Given the description of an element on the screen output the (x, y) to click on. 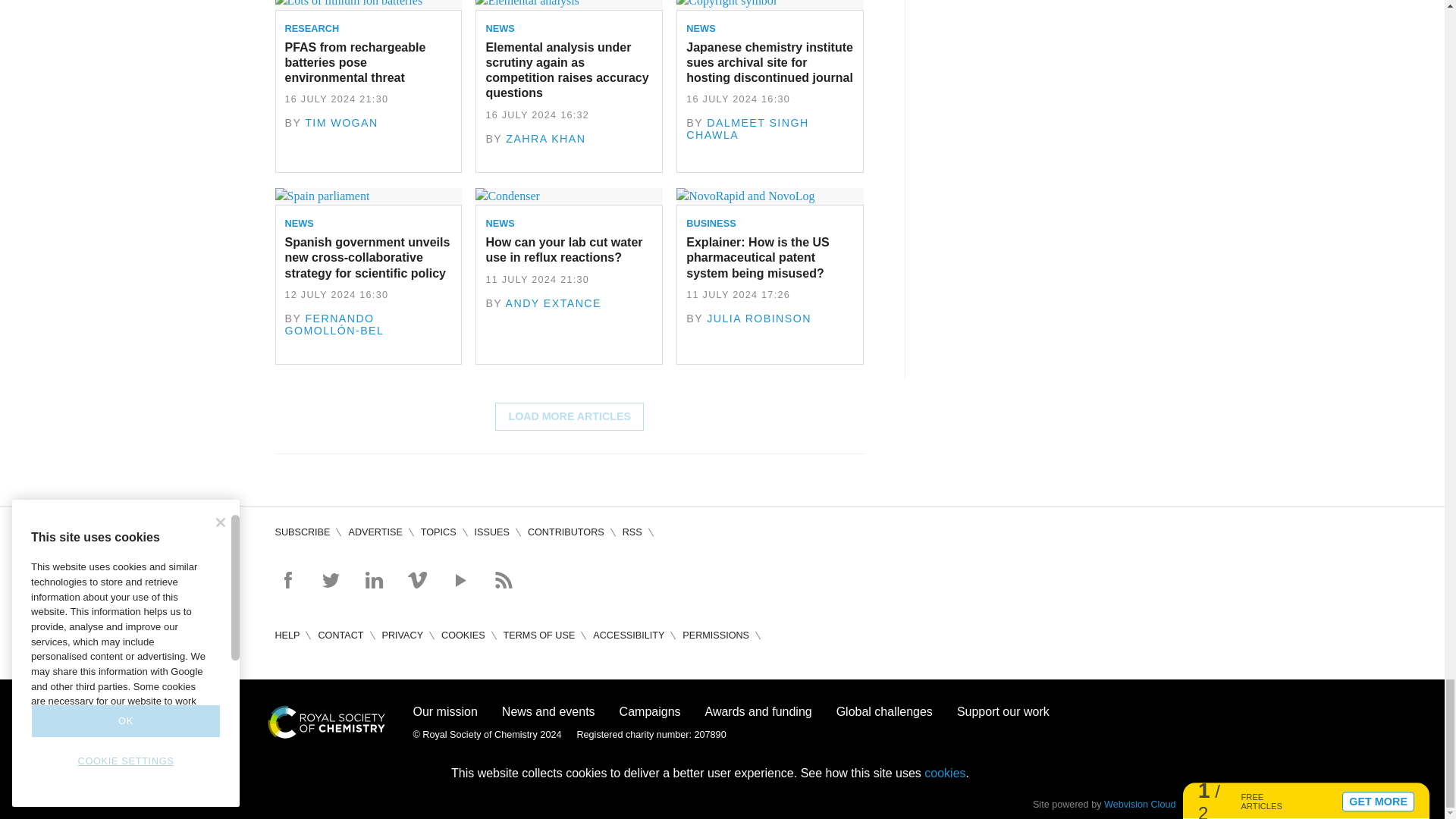
Follow on Twitter (330, 579)
Follow on Facebook (287, 579)
